Given the description of an element on the screen output the (x, y) to click on. 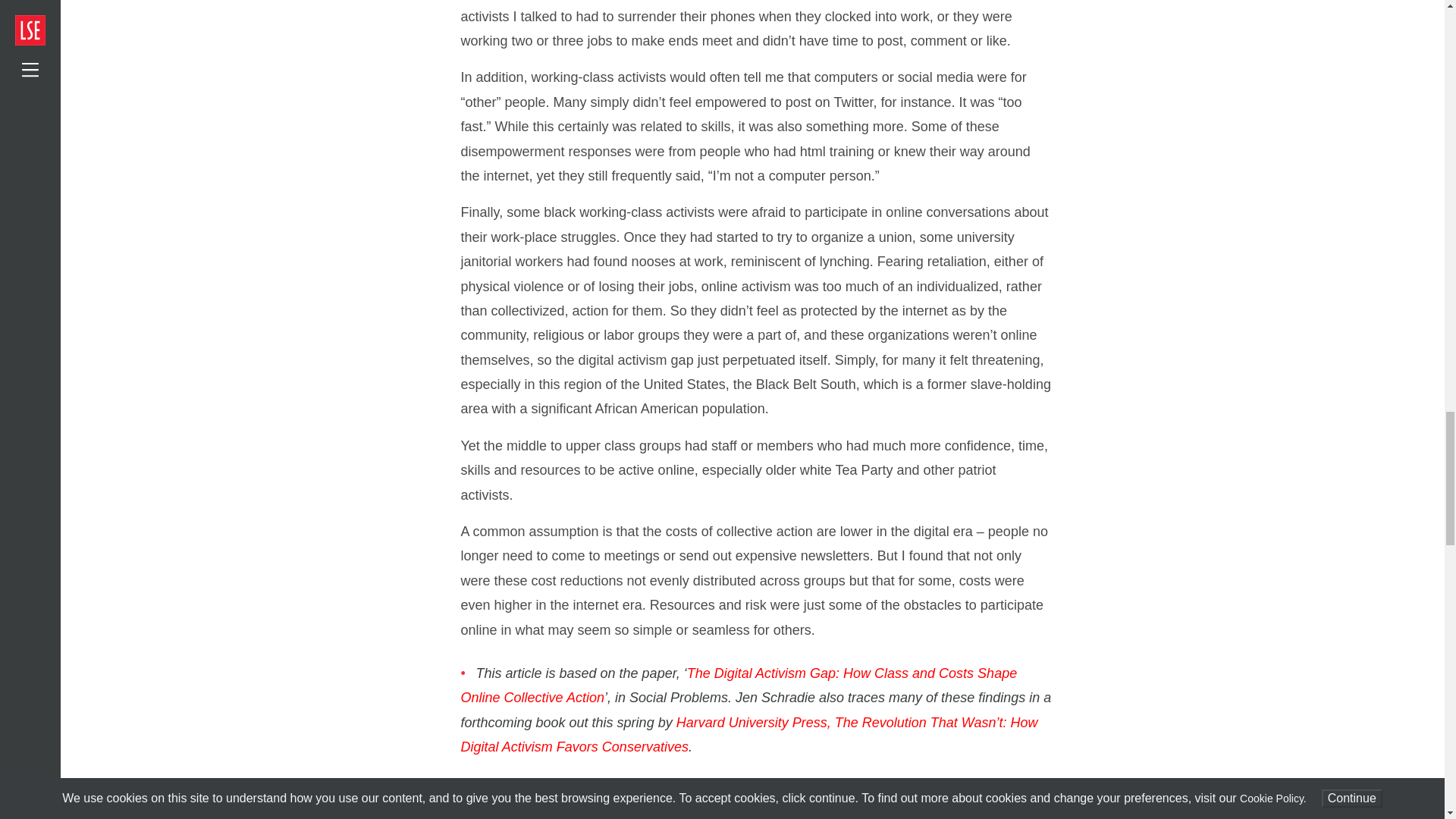
Please read our comments policy before commenting. (624, 790)
